Given the description of an element on the screen output the (x, y) to click on. 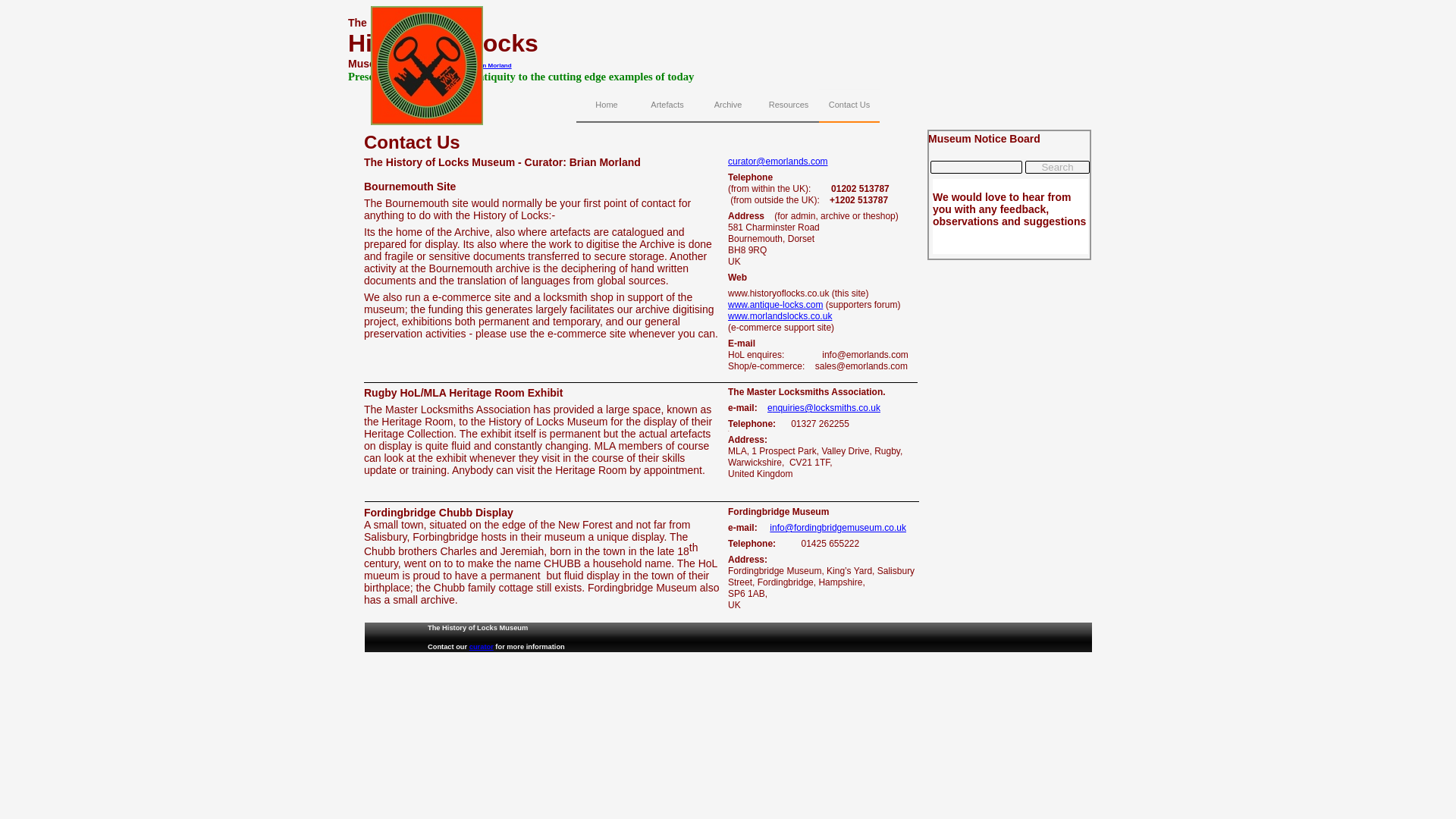
e (770, 407)
Brian Morland (491, 65)
Resources (788, 105)
www.morlandslocks.co.uk (779, 316)
www.antique-locks.com (775, 304)
Archive (727, 105)
curator (480, 646)
Search (1057, 166)
Contact Us (848, 105)
Artefacts (667, 105)
Home (606, 105)
